Given the description of an element on the screen output the (x, y) to click on. 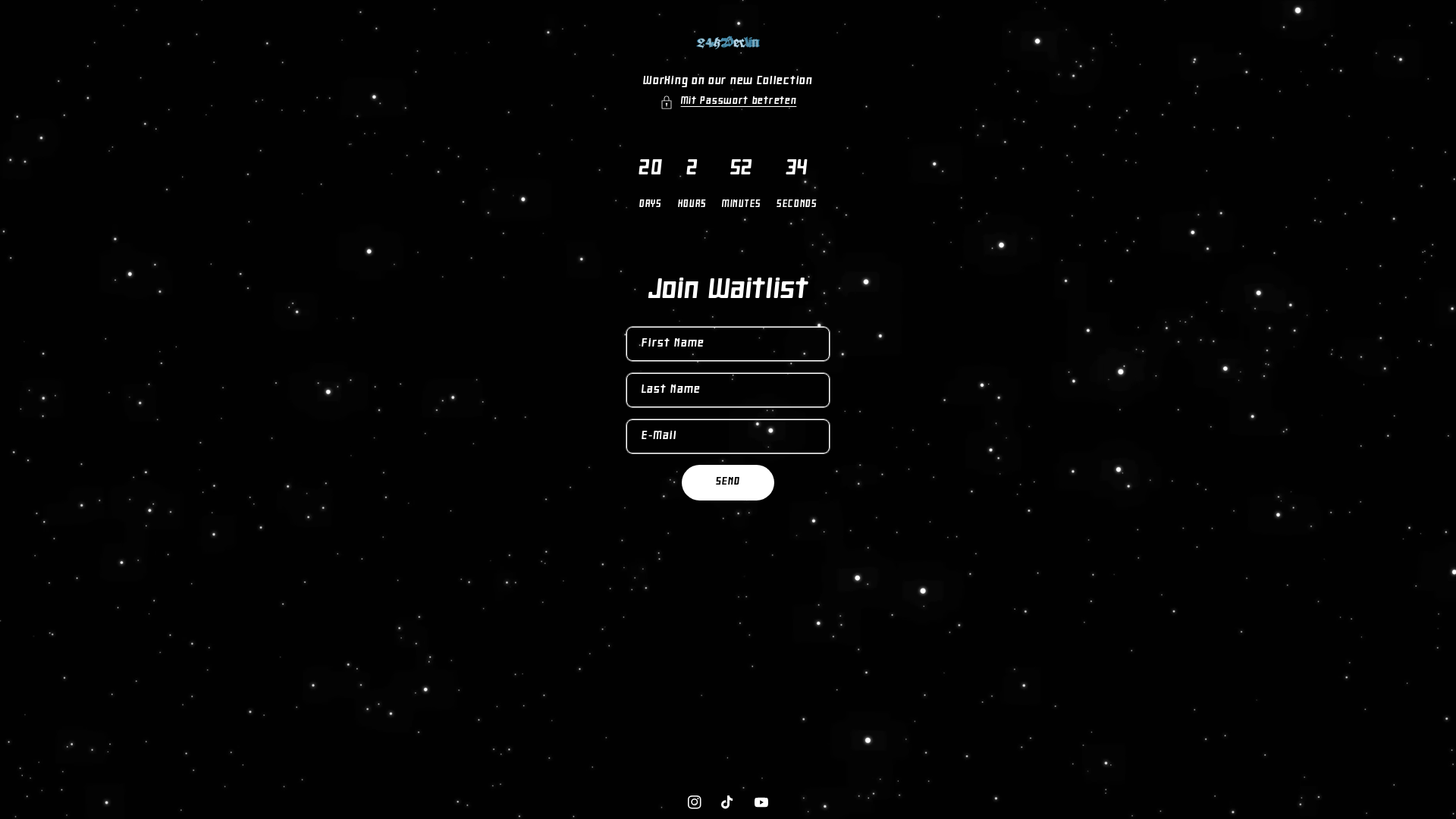
SEND Element type: text (727, 482)
